Given the description of an element on the screen output the (x, y) to click on. 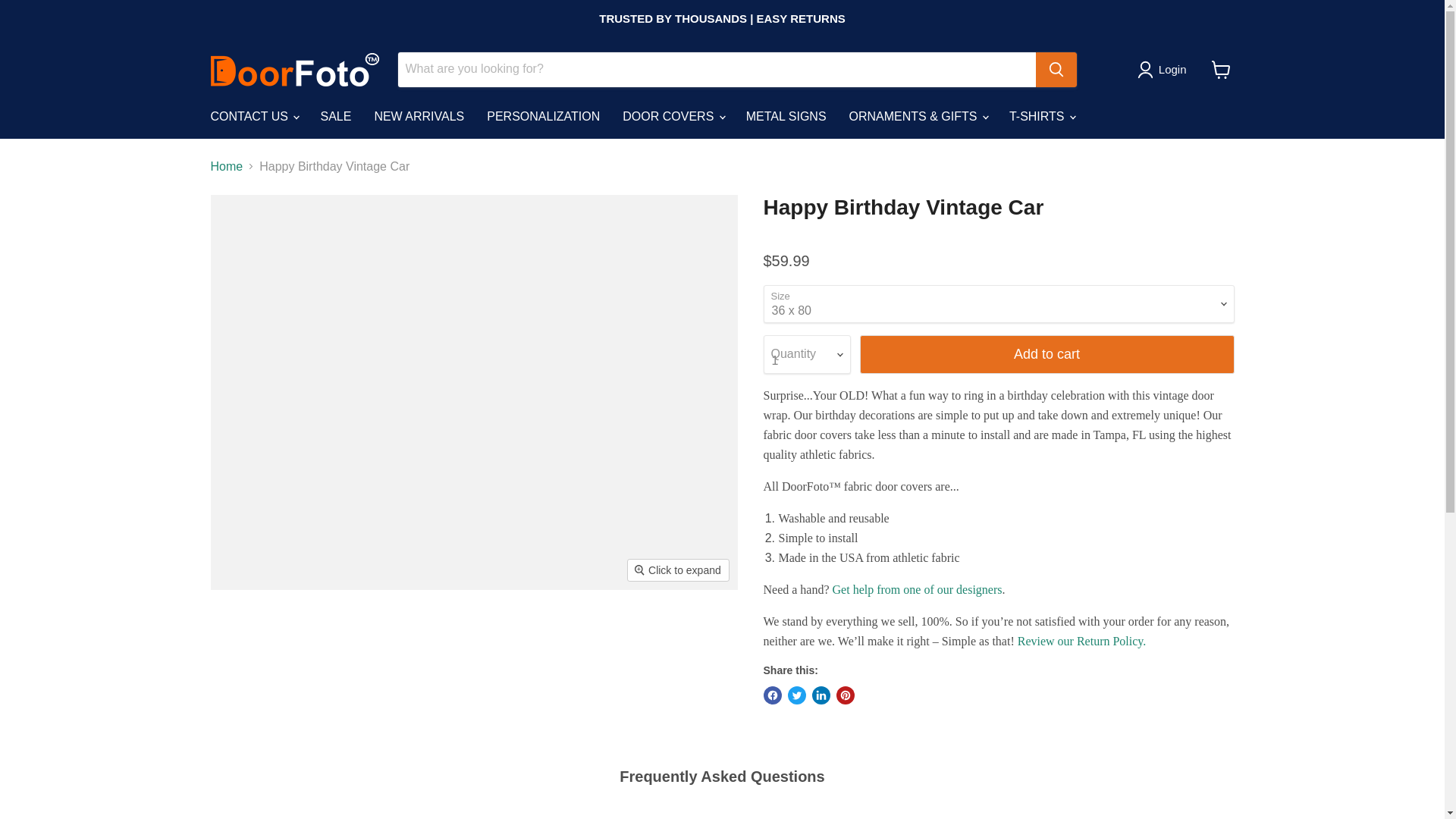
SALE (335, 115)
NEW ARRIVALS (419, 115)
View cart (1221, 69)
PERSONALIZATION (543, 115)
Login (1172, 69)
